Given the description of an element on the screen output the (x, y) to click on. 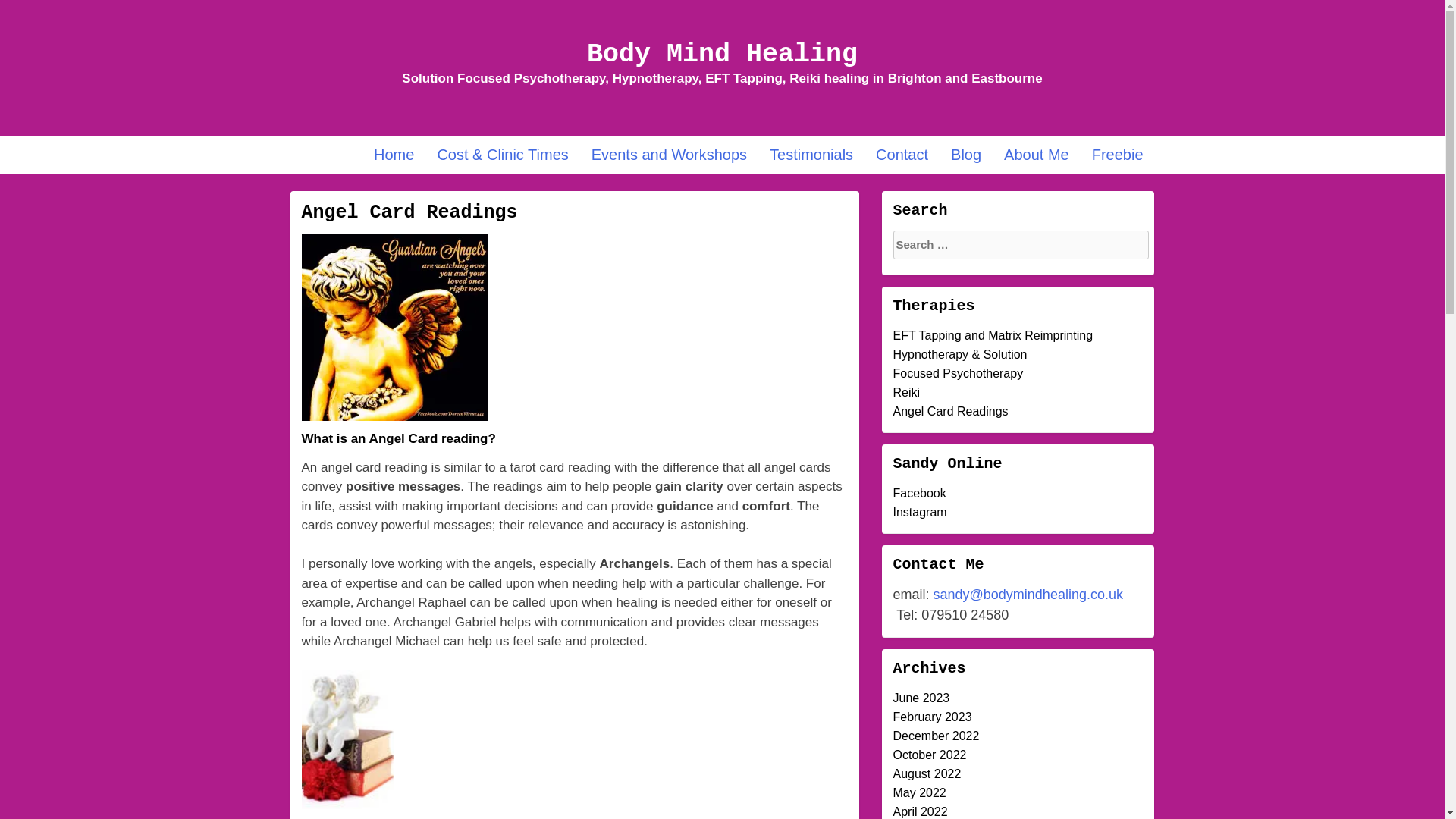
Events and Workshops (668, 154)
Angel Card Readings (951, 410)
December 2022 (936, 735)
October 2022 (929, 754)
Body Mind Healing (721, 54)
Freebie (1117, 154)
May 2022 (919, 792)
Facebook (919, 492)
About Me (1036, 154)
Testimonials (811, 154)
Freebie (1117, 154)
Home (393, 154)
Instagram (920, 512)
Home (393, 154)
August 2022 (926, 773)
